Given the description of an element on the screen output the (x, y) to click on. 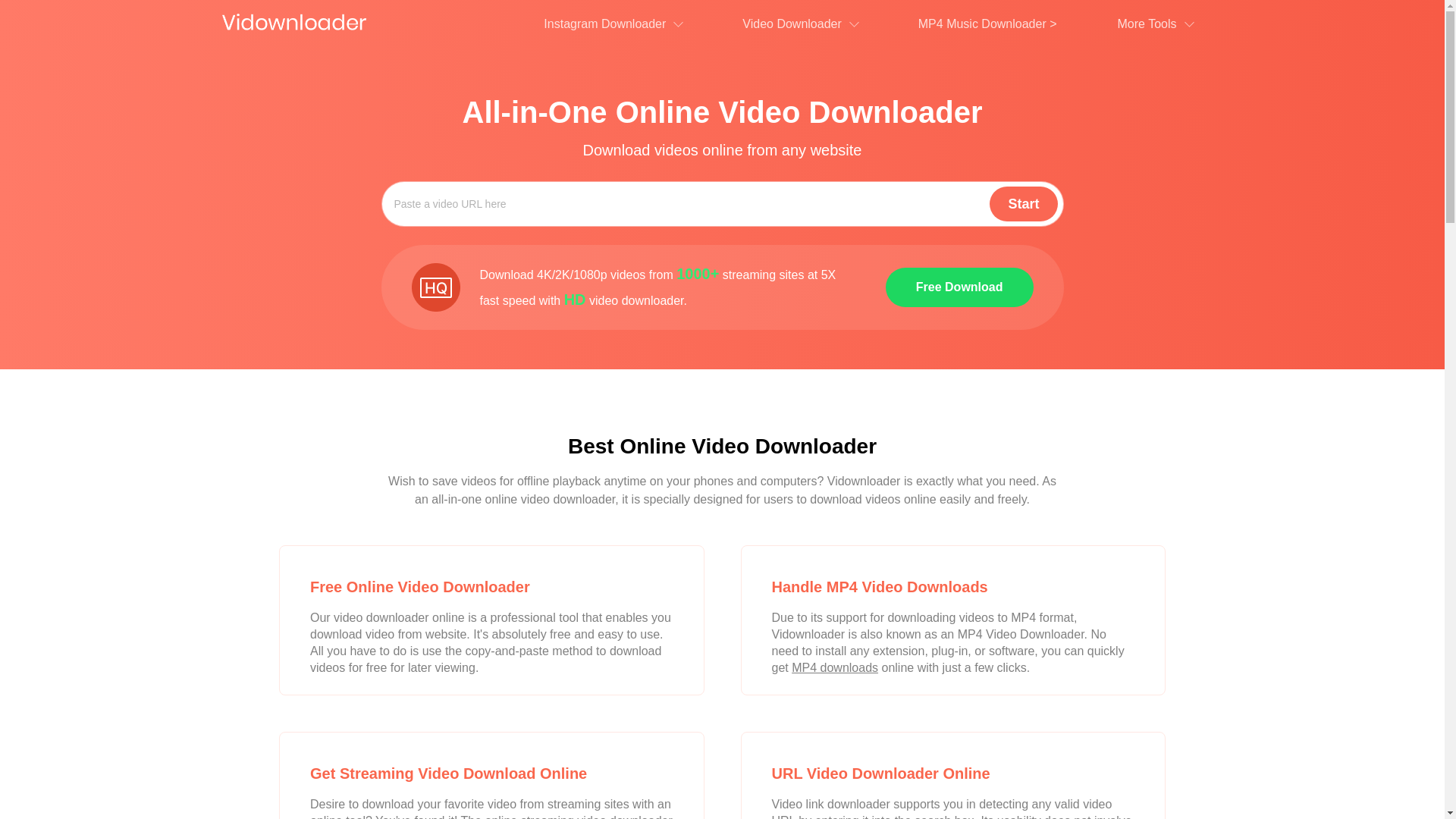
MP4 downloads Element type: text (834, 667)
MP4 Music Downloader > Element type: text (987, 23)
More Tools Element type: text (1154, 26)
Free Download Element type: text (959, 287)
Video Downloader Element type: text (799, 26)
Instagram Downloader Element type: text (612, 26)
